Given the description of an element on the screen output the (x, y) to click on. 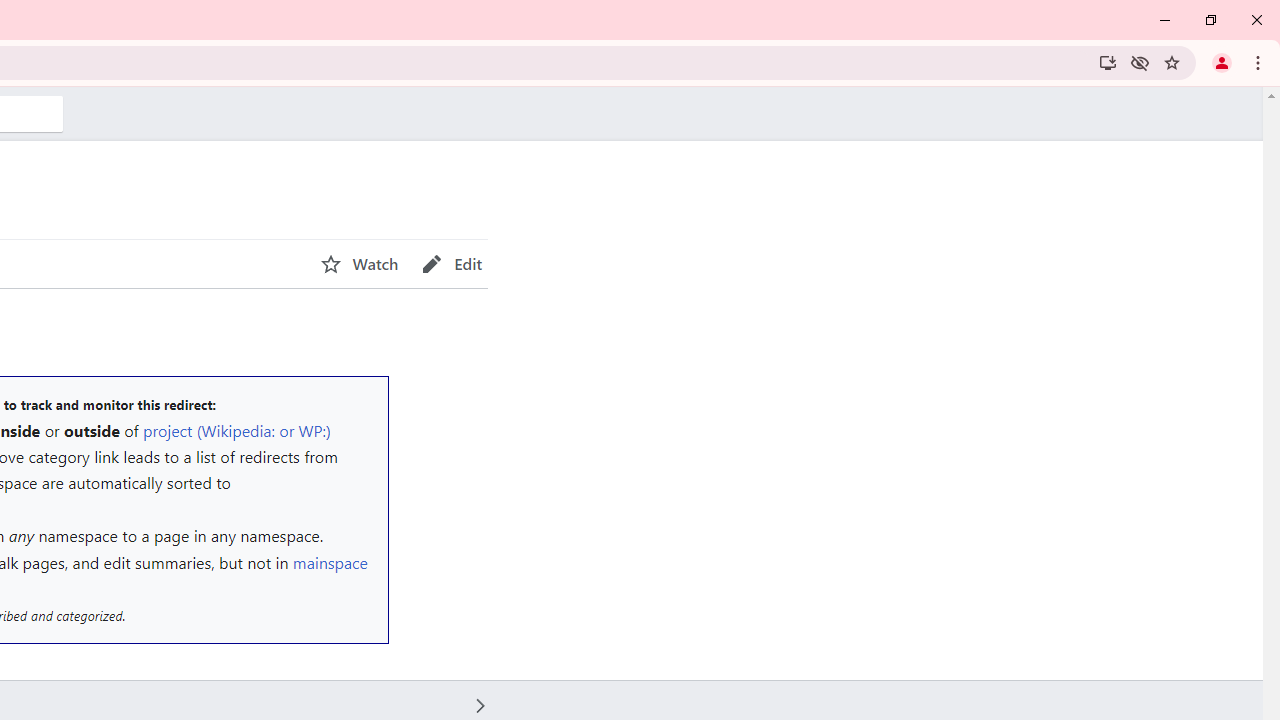
Install Wikipedia (1107, 62)
Edit (452, 264)
AutomationID: page-actions-watch (359, 263)
mainspace (329, 561)
Third-party cookies blocked (1139, 62)
AutomationID: page-actions-edit (452, 263)
Watch (359, 264)
